Given the description of an element on the screen output the (x, y) to click on. 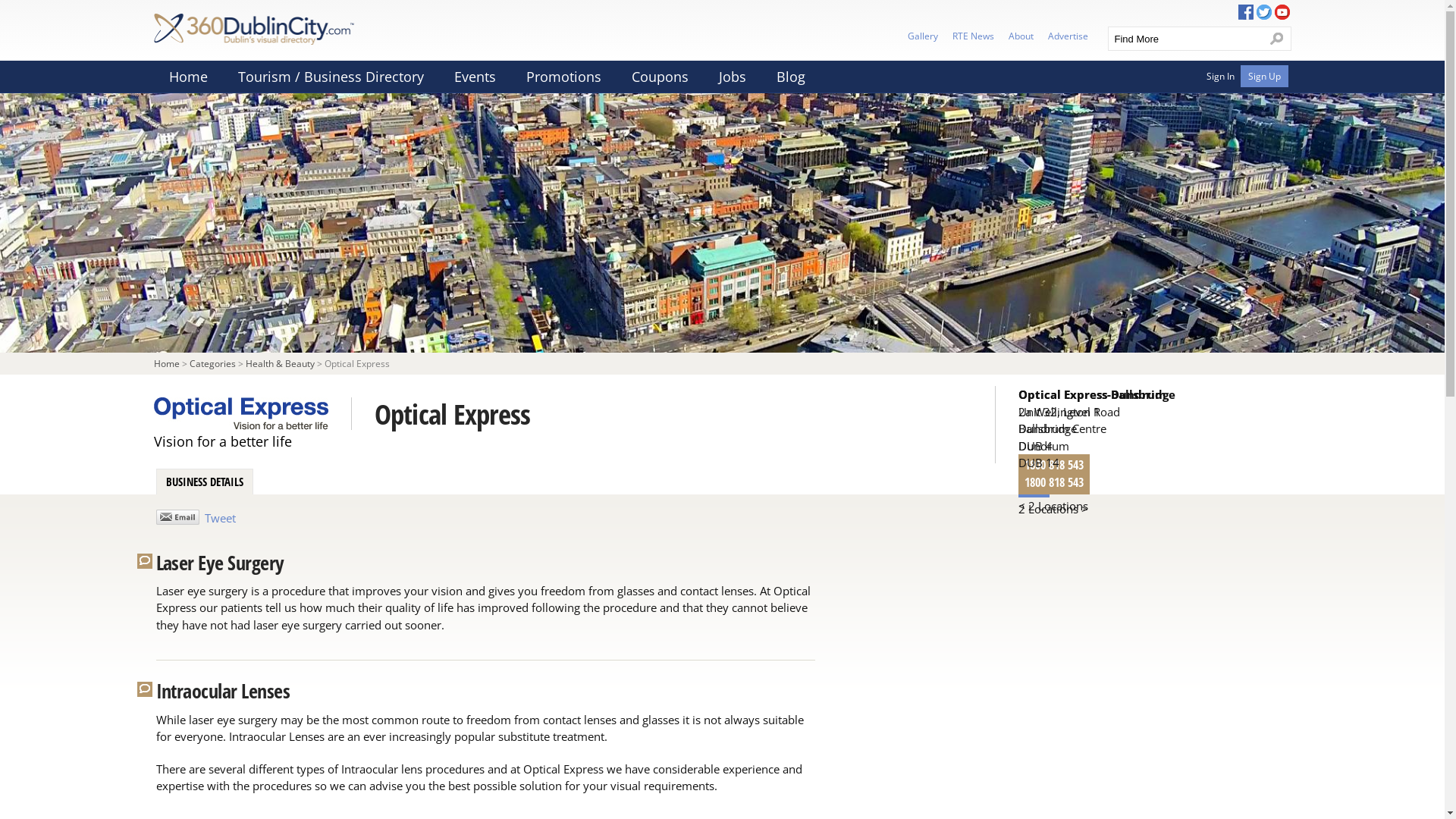
Events Element type: text (474, 76)
Jobs Element type: text (732, 76)
Twitter Element type: text (1262, 11)
Find More Element type: hover (1184, 38)
BUSINESS DETAILS Element type: text (203, 481)
RTE News Element type: text (973, 34)
Dubline City Center Element type: hover (722, 222)
Search Element type: text (1276, 38)
Optical Express Logo Element type: hover (252, 413)
Sign Up Element type: text (1264, 76)
Home Element type: text (187, 76)
Home Element type: text (165, 363)
Google+ Element type: text (1281, 11)
Share by Email Element type: text (177, 516)
Sign In Element type: text (1219, 75)
Facebook Element type: text (1244, 11)
Advertise Element type: text (1068, 34)
Gallery Element type: text (921, 34)
Tweet Element type: text (219, 517)
Promotions Element type: text (563, 76)
MAP Element type: text (1032, 488)
Coupons Element type: text (658, 76)
Blog Element type: text (790, 76)
About Element type: text (1020, 34)
Tourism / Business Directory Element type: text (330, 76)
Categories Element type: text (212, 363)
Health & Beauty Element type: text (279, 363)
